Given the description of an element on the screen output the (x, y) to click on. 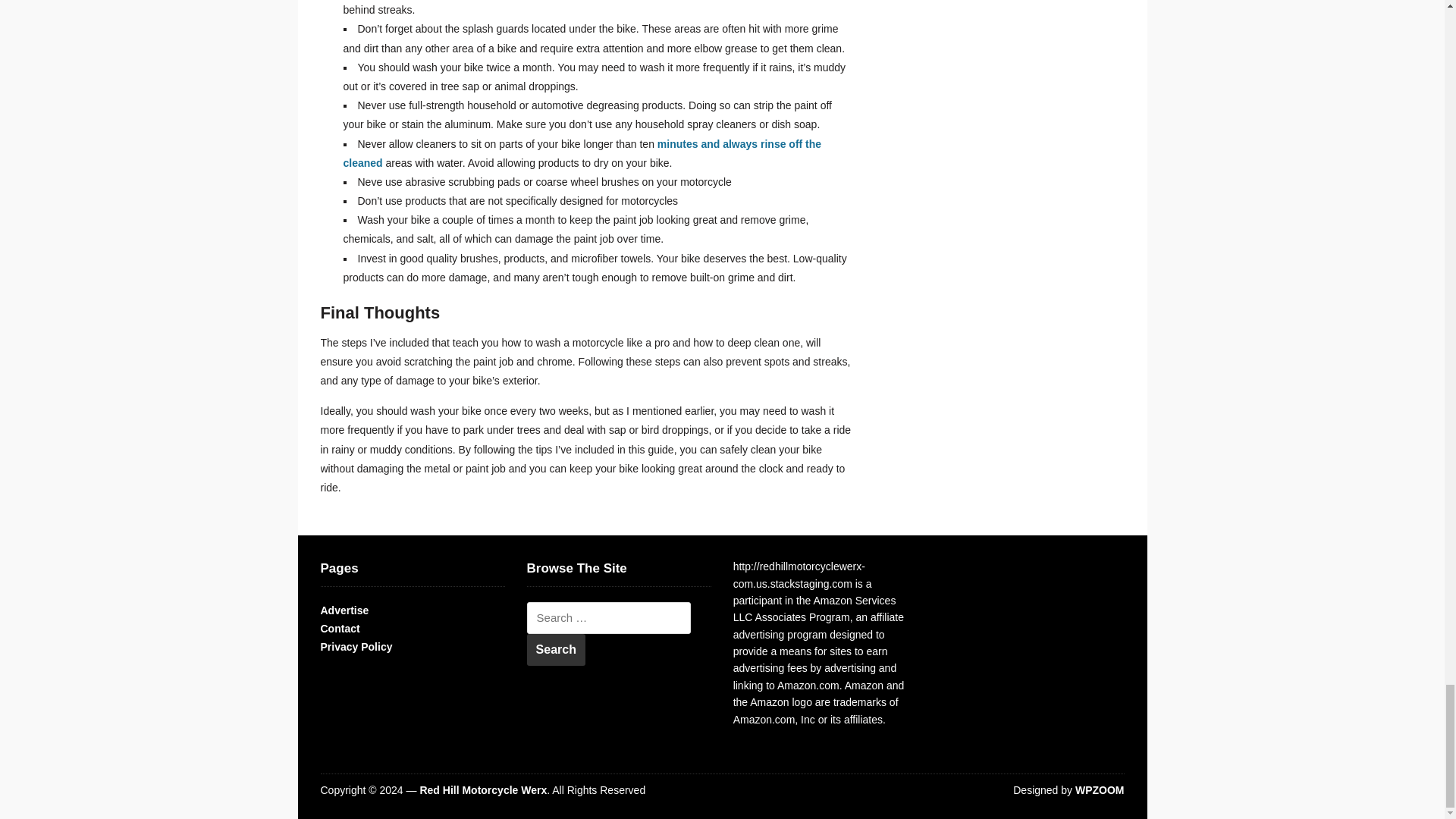
Search (556, 649)
Search (556, 649)
